Given the description of an element on the screen output the (x, y) to click on. 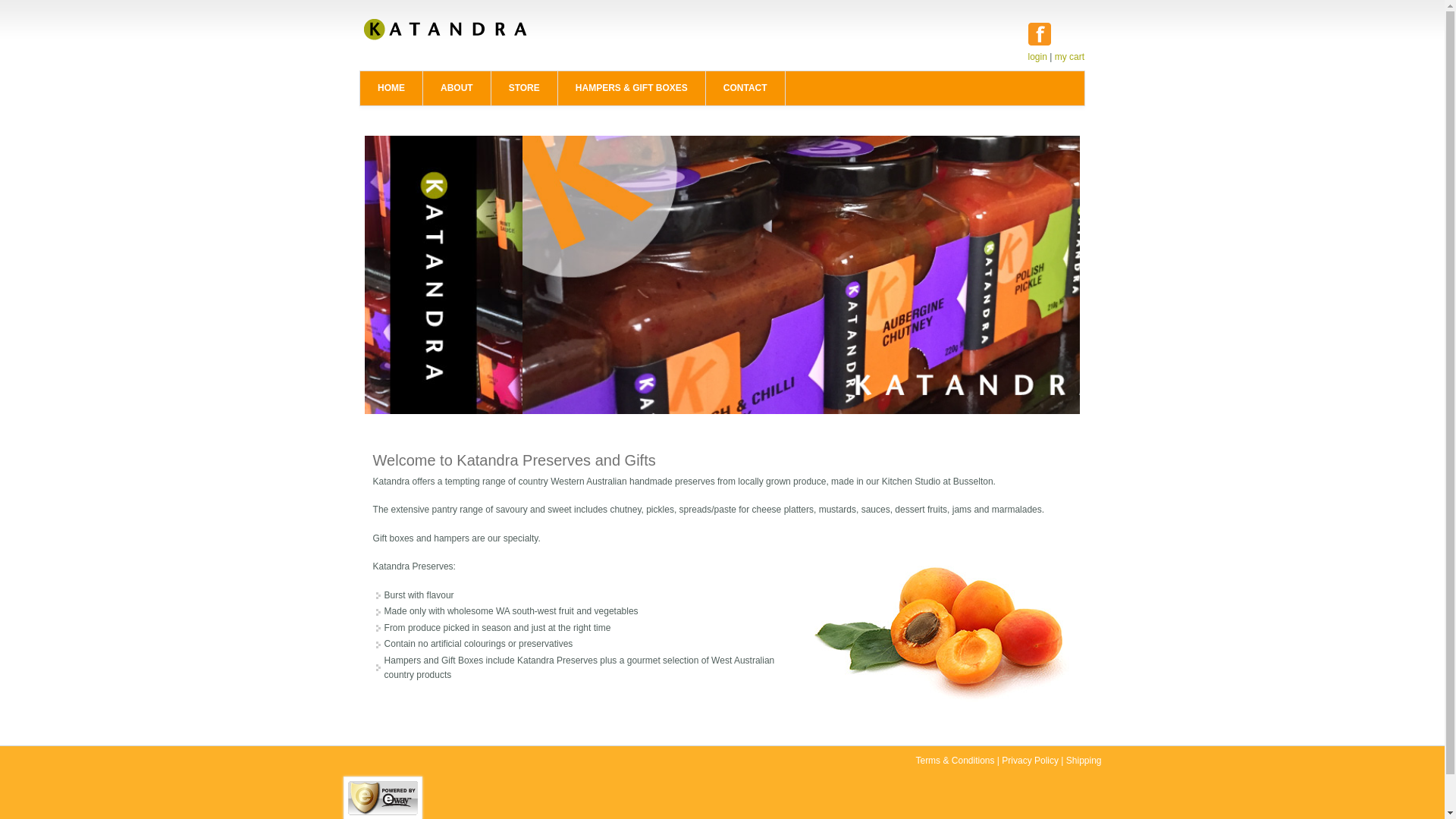
Shipping Element type: text (1083, 760)
STORE Element type: text (524, 88)
my cart Element type: text (1069, 56)
HAMPERS & GIFT BOXES Element type: text (631, 88)
Terms & Conditions Element type: text (954, 760)
HOME Element type: text (391, 88)
Home Element type: hover (445, 36)
CONTACT Element type: text (745, 88)
ABOUT Element type: text (456, 88)
Privacy Policy Element type: text (1029, 760)
login Element type: text (1037, 56)
